Given the description of an element on the screen output the (x, y) to click on. 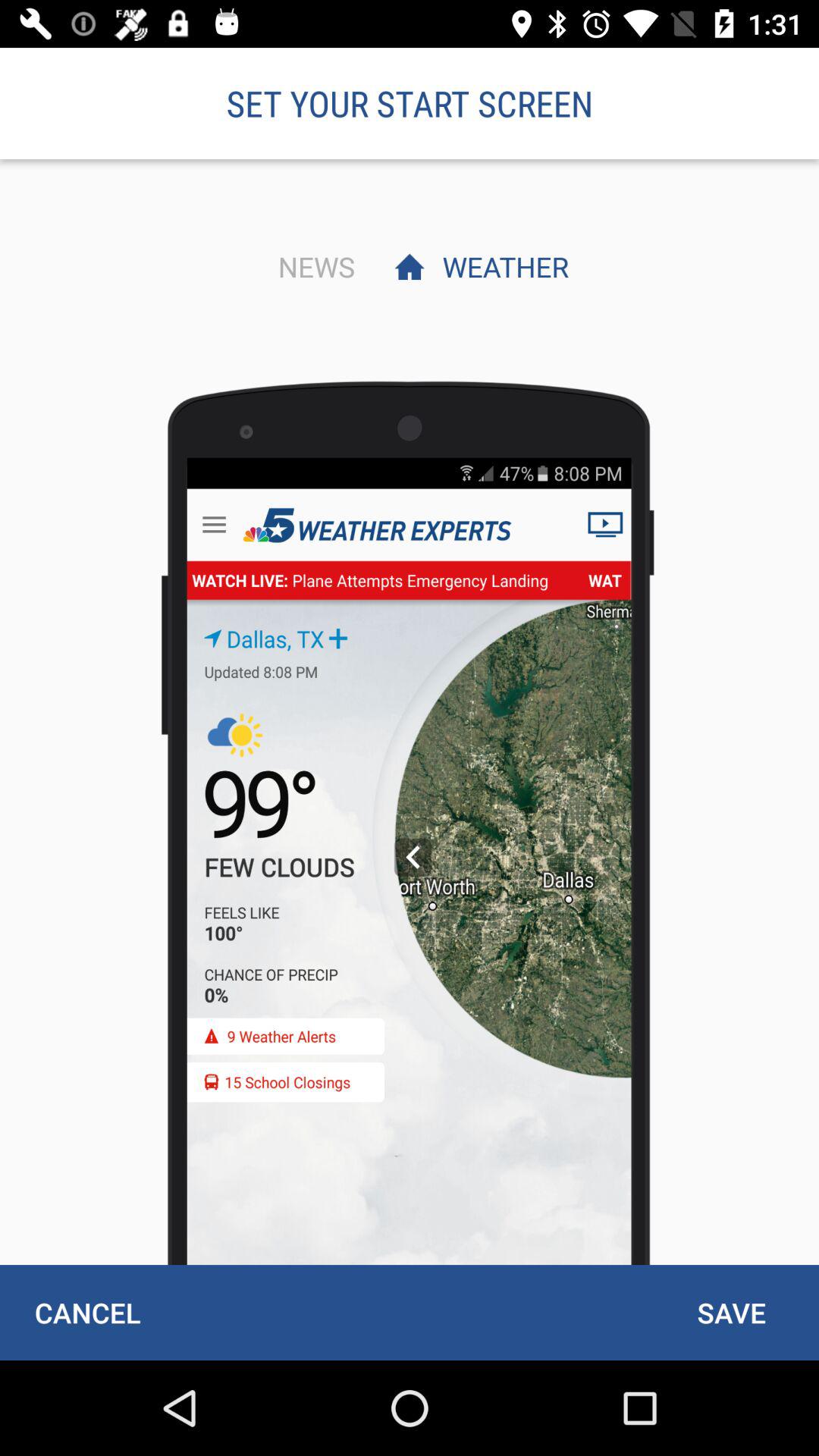
swipe until the news (312, 266)
